Given the description of an element on the screen output the (x, y) to click on. 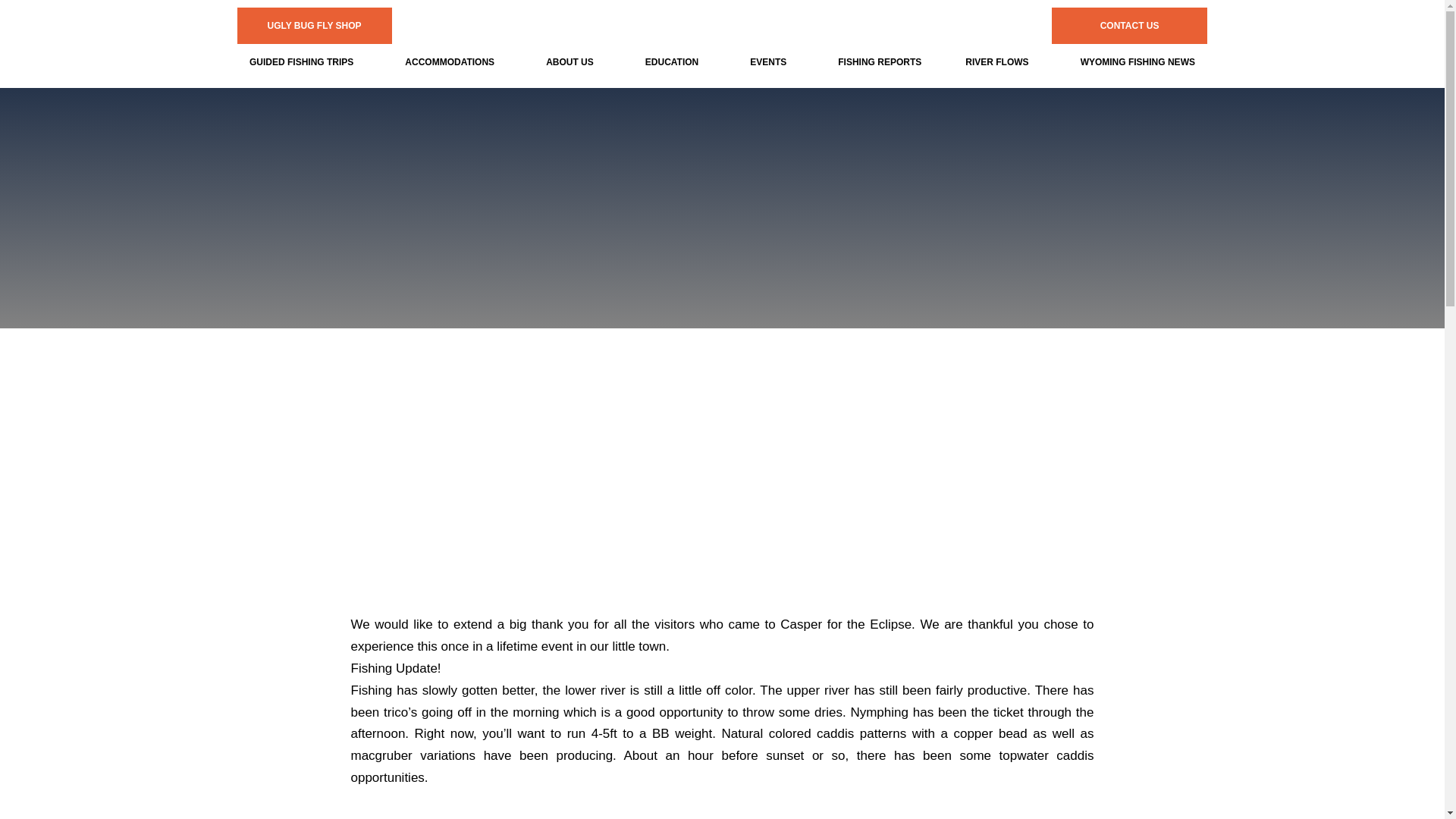
ABOUT US (574, 62)
CONTACT US (1129, 25)
ACCOMMODATIONS (454, 62)
GUIDED FISHING TRIPS (303, 62)
EVENTS (772, 62)
UGLY BUG FLY SHOP (313, 25)
EDUCATION (674, 62)
